Given the description of an element on the screen output the (x, y) to click on. 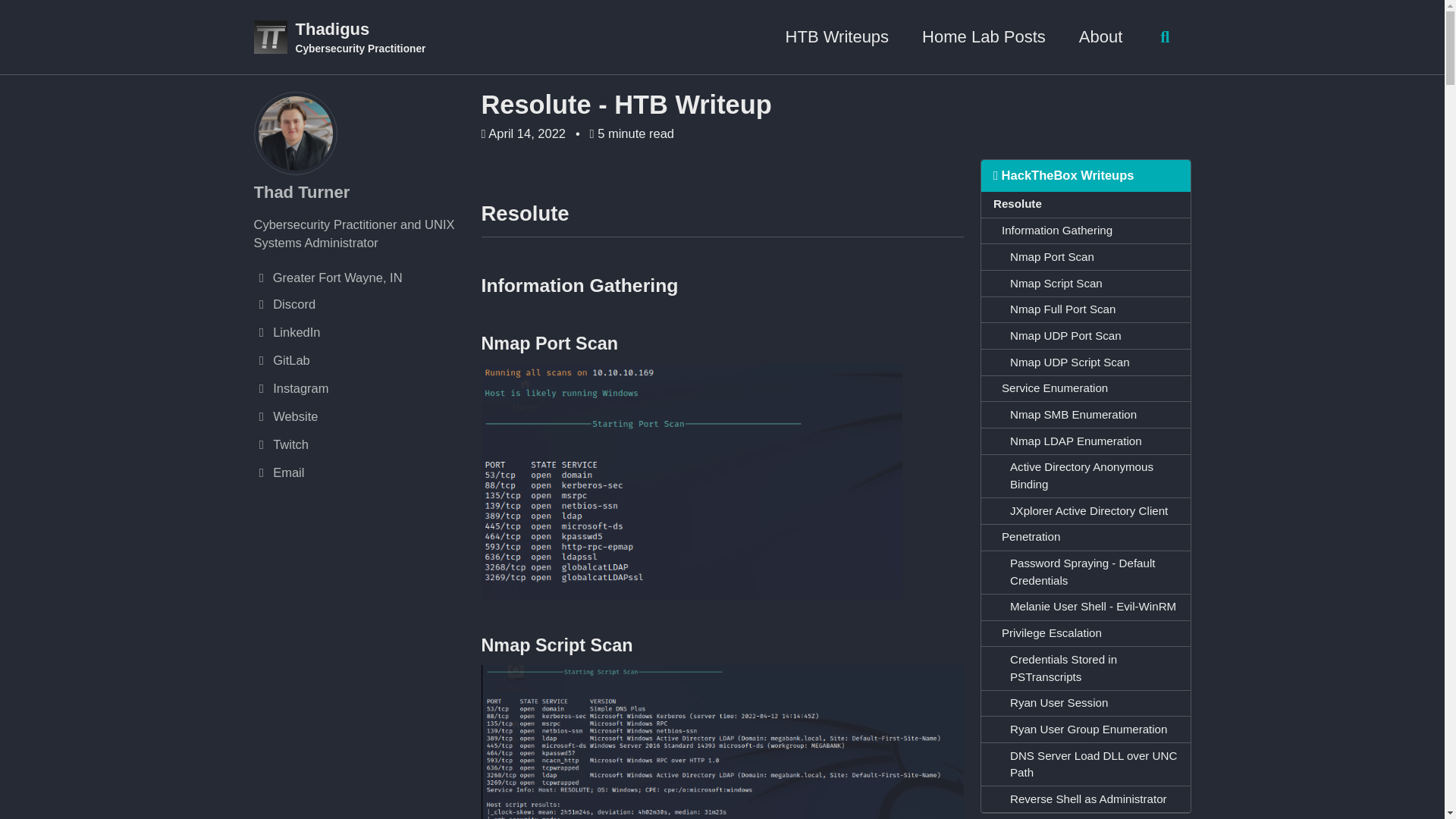
Active Directory Anonymous Binding (1086, 476)
Resolute (1086, 204)
Nmap SMB Enumeration (1086, 415)
Email (358, 472)
Penetration (1086, 537)
Ryan User Session (1086, 704)
Thad Turner (301, 191)
Twitch (358, 444)
Information Gathering (1086, 231)
